Given the description of an element on the screen output the (x, y) to click on. 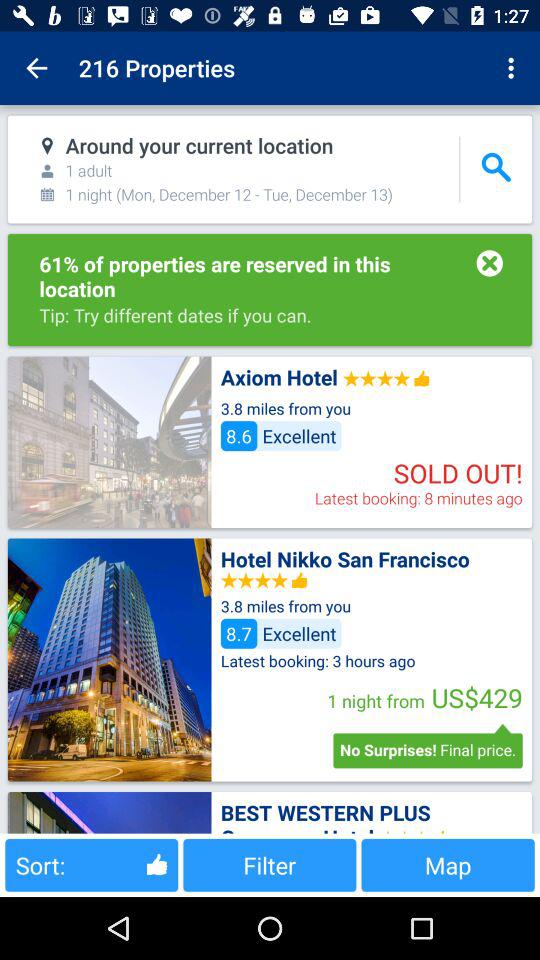
check best western plus hotel (109, 812)
